Given the description of an element on the screen output the (x, y) to click on. 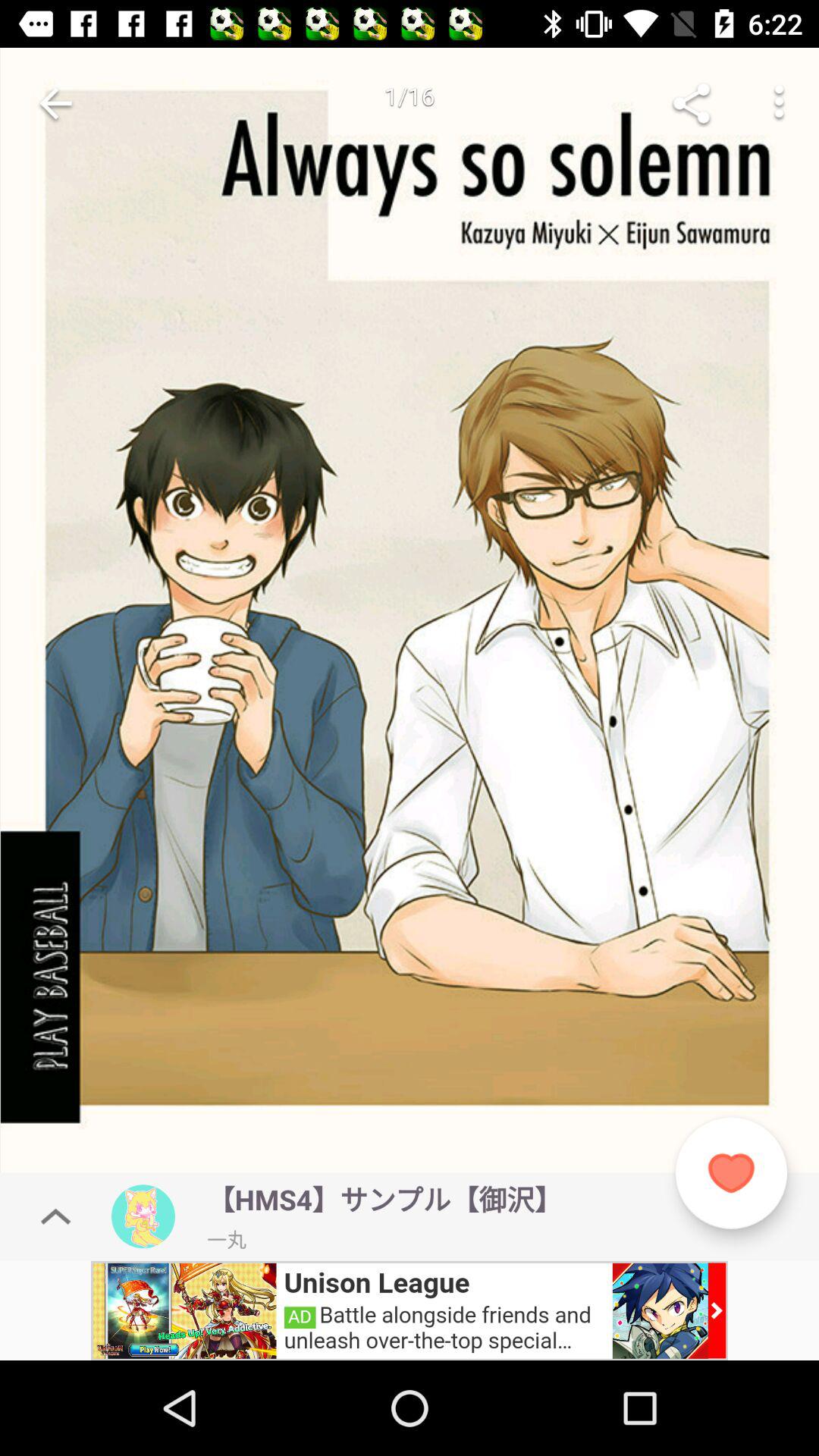
mark as favorite (731, 1173)
